Given the description of an element on the screen output the (x, y) to click on. 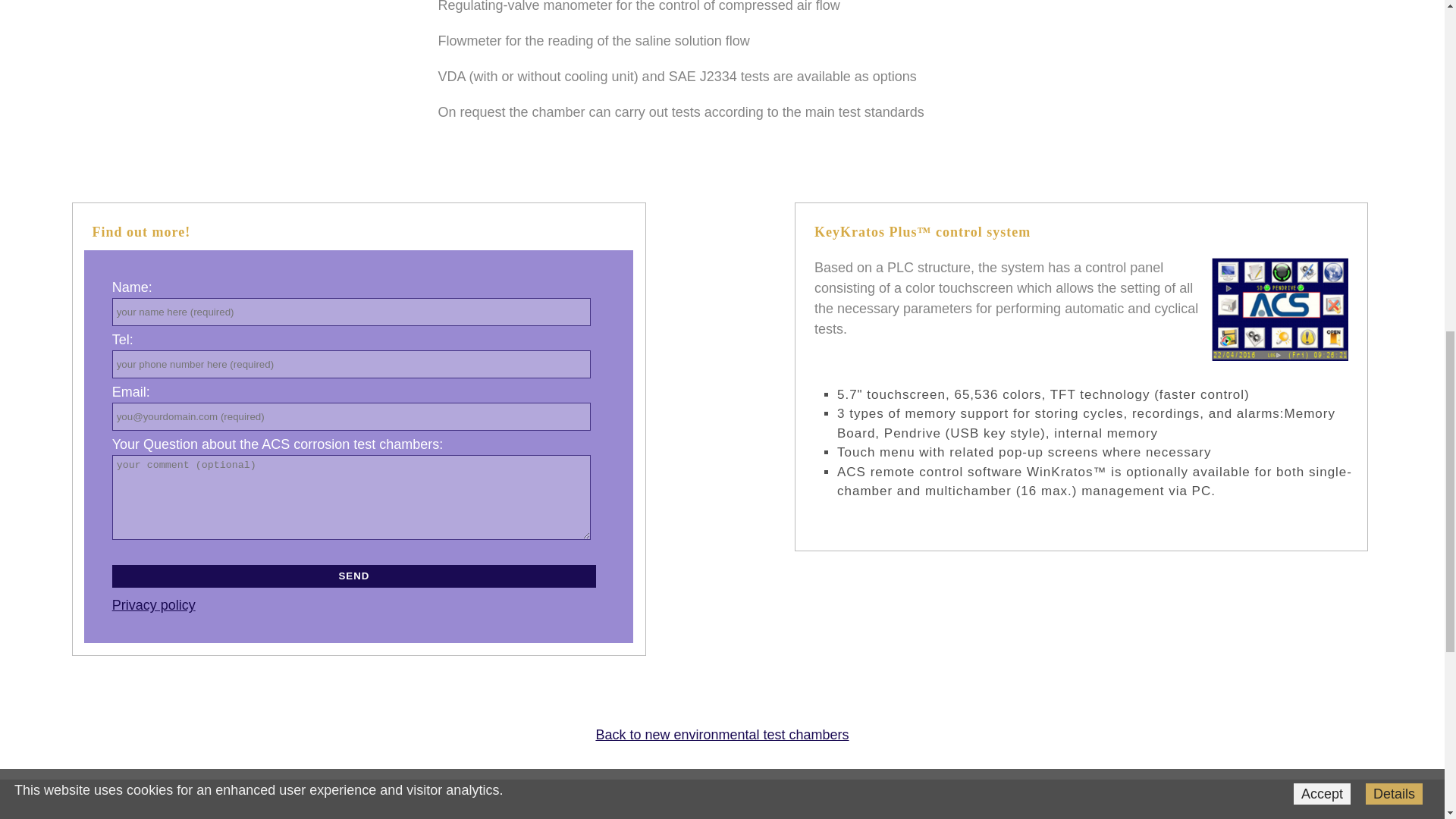
SEND (353, 576)
Back to new environmental test chambers (721, 734)
SEND (353, 576)
Privacy policy (153, 604)
